Given the description of an element on the screen output the (x, y) to click on. 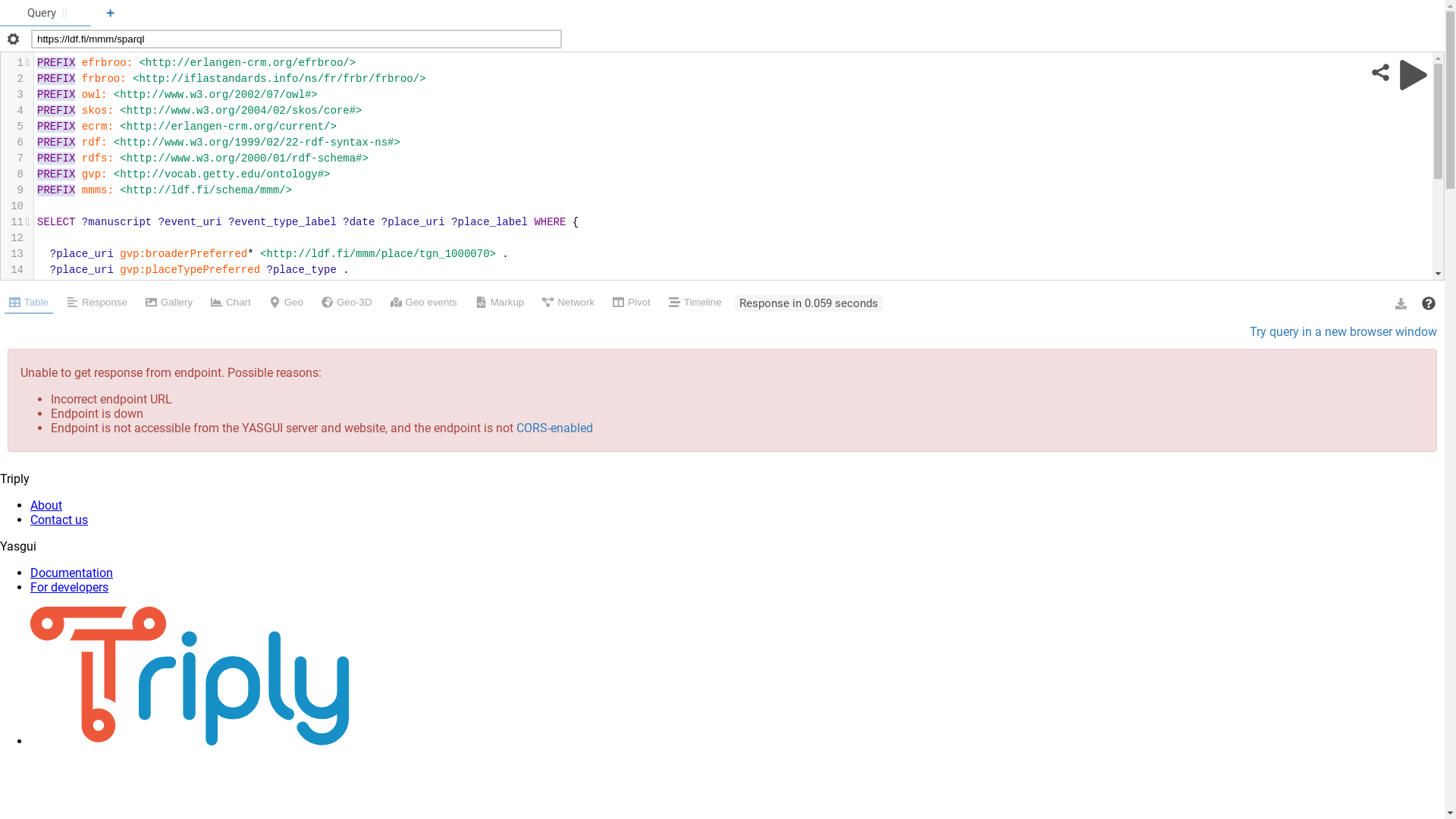
Geo Element type: text (285, 302)
Download not supported Element type: hover (1400, 302)
Network Element type: text (568, 302)
+ Element type: text (110, 13)
About Element type: text (46, 505)
Gallery Element type: text (169, 302)
Response Element type: text (96, 302)
image/svg+xml Settings Settings Element type: text (11, 38)
For developers Element type: text (69, 587)
View documentation of Table Element type: hover (1428, 302)
Share query Element type: hover (1380, 73)
CORS-enabled Element type: text (554, 427)
Contact us Element type: text (58, 519)
Geo-3D Element type: text (346, 302)
Timeline Element type: text (695, 302)
Table Element type: text (28, 302)
Try query in a new browser window Element type: text (1343, 331)
Chart Element type: text (230, 302)
Run query Element type: hover (1413, 74)
Geo events Element type: text (423, 302)
Pivot Element type: text (631, 302)
Markup Element type: text (499, 302)
Documentation Element type: text (71, 572)
